Given the description of an element on the screen output the (x, y) to click on. 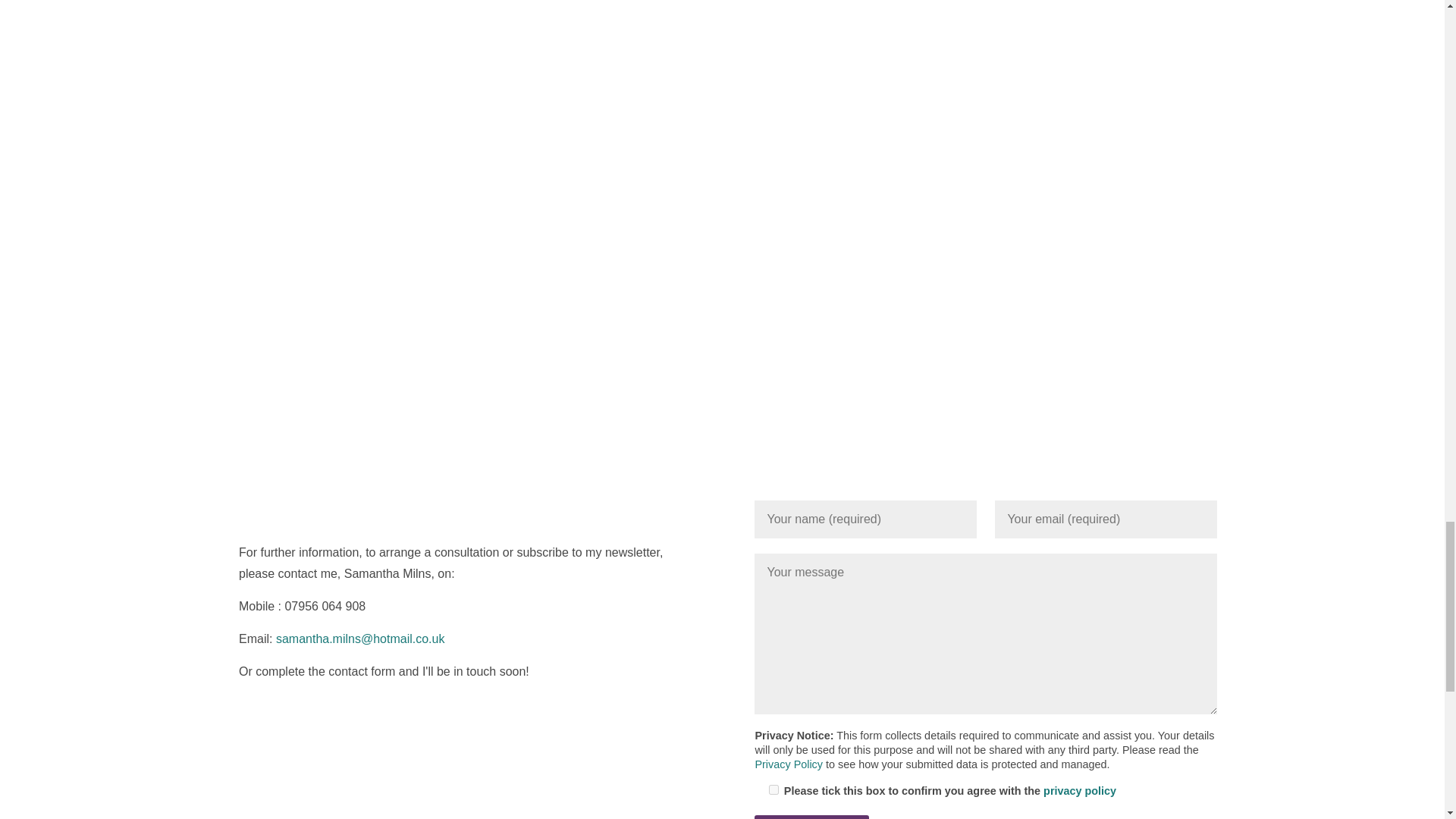
1 (773, 789)
Send message (811, 816)
Privacy Policy (788, 764)
Follow on Instagram (281, 721)
Send message (811, 816)
privacy policy (1079, 790)
Follow on Facebook (250, 721)
